Given the description of an element on the screen output the (x, y) to click on. 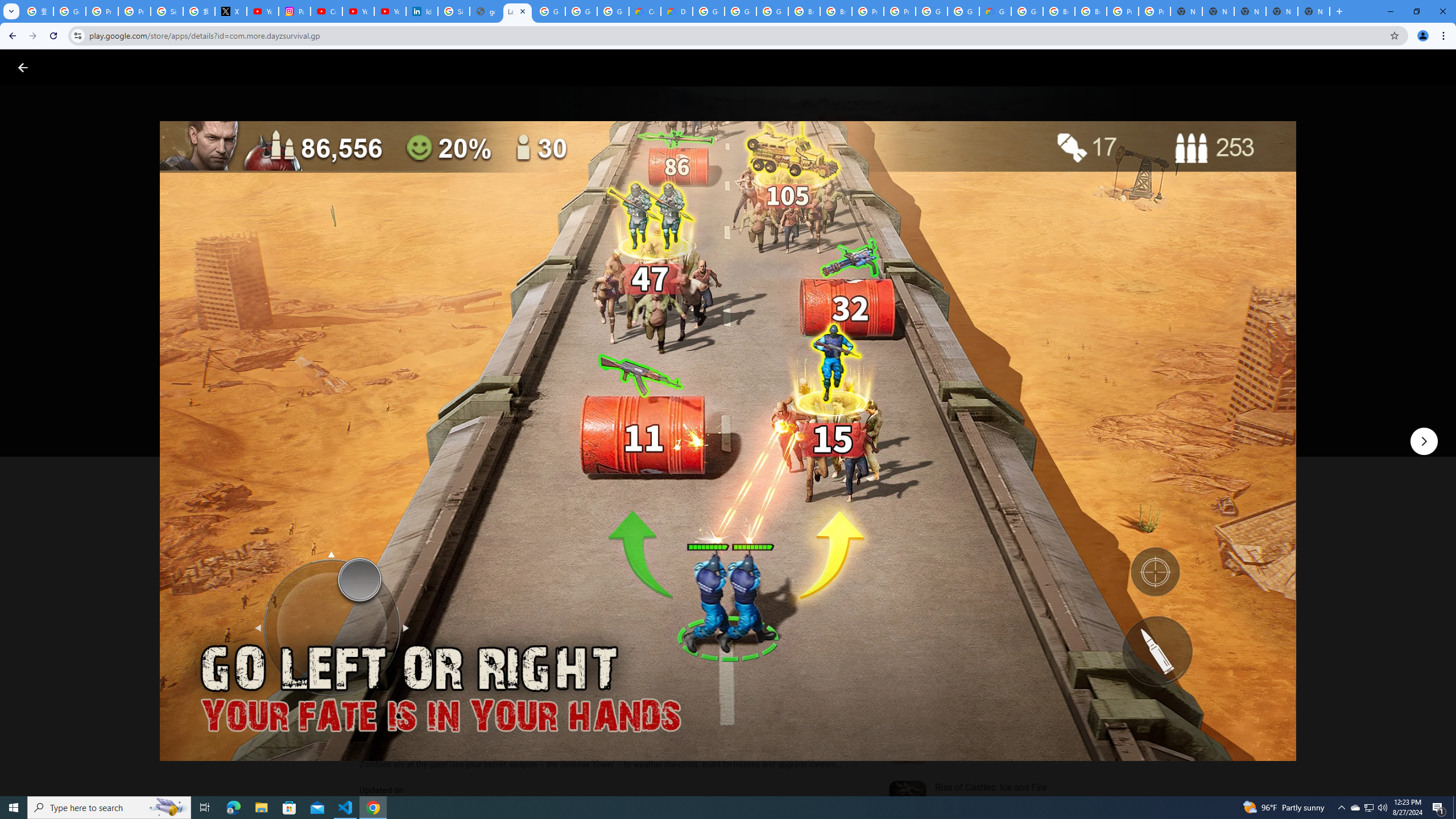
Customer Care | Google Cloud (644, 11)
Apps (182, 67)
Browse Chrome as a guest - Computer - Google Chrome Help (836, 11)
YouTube Content Monetization Policies - How YouTube Works (262, 11)
Google Workspace - Specific Terms (581, 11)
Next (1424, 441)
Privacy Help Center - Policies Help (134, 11)
